Given the description of an element on the screen output the (x, y) to click on. 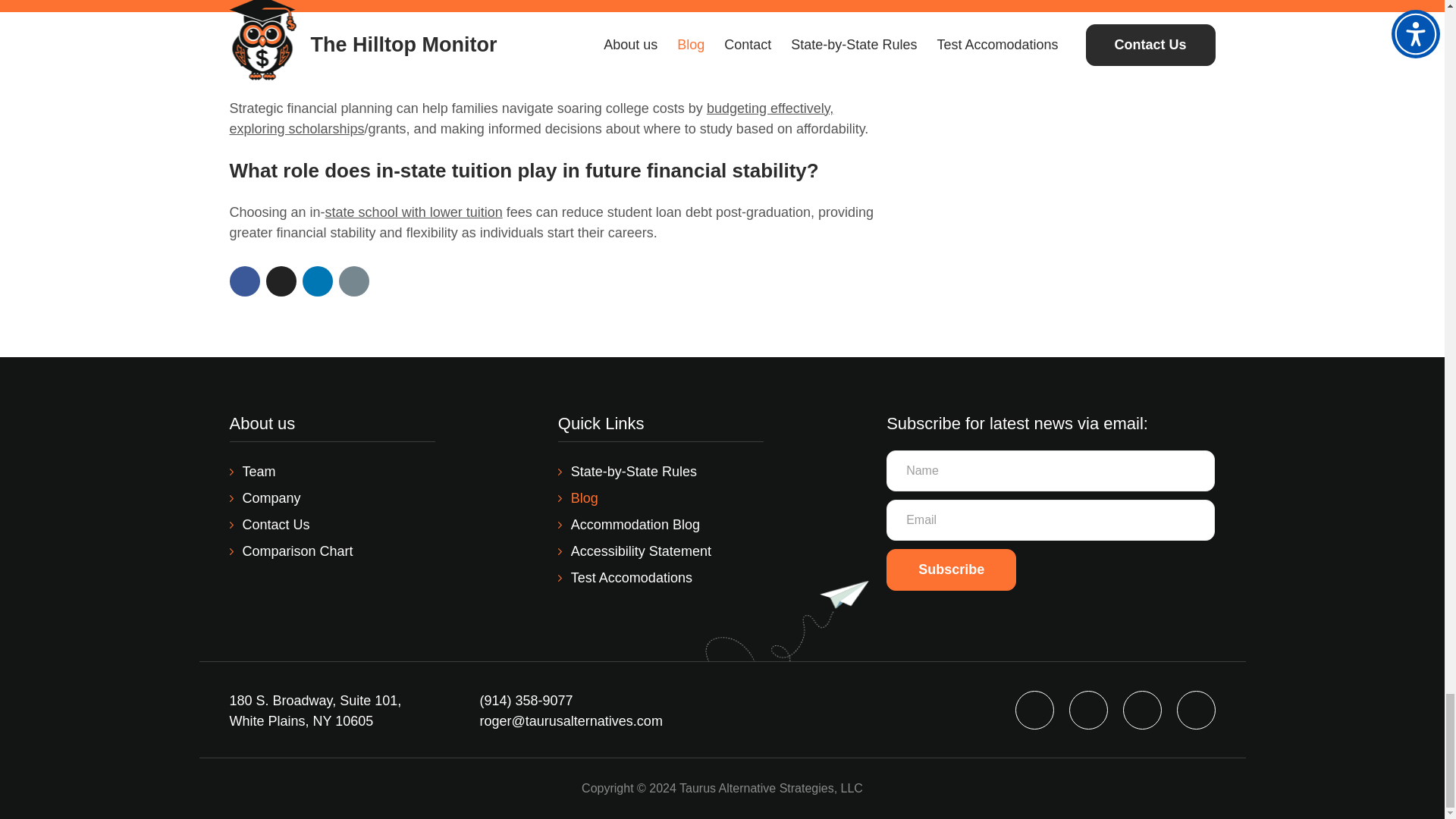
Company (263, 498)
Accessibility Statement (634, 550)
Test Accomodations (625, 577)
Comparison Chart (290, 550)
Subscribe (951, 569)
state school with lower tuition (413, 212)
budgeting effectively, exploring scholarships (530, 117)
Contact Us (268, 524)
Team (251, 471)
State-by-State Rules (627, 471)
Accommodation Blog (628, 524)
Blog (577, 498)
